Given the description of an element on the screen output the (x, y) to click on. 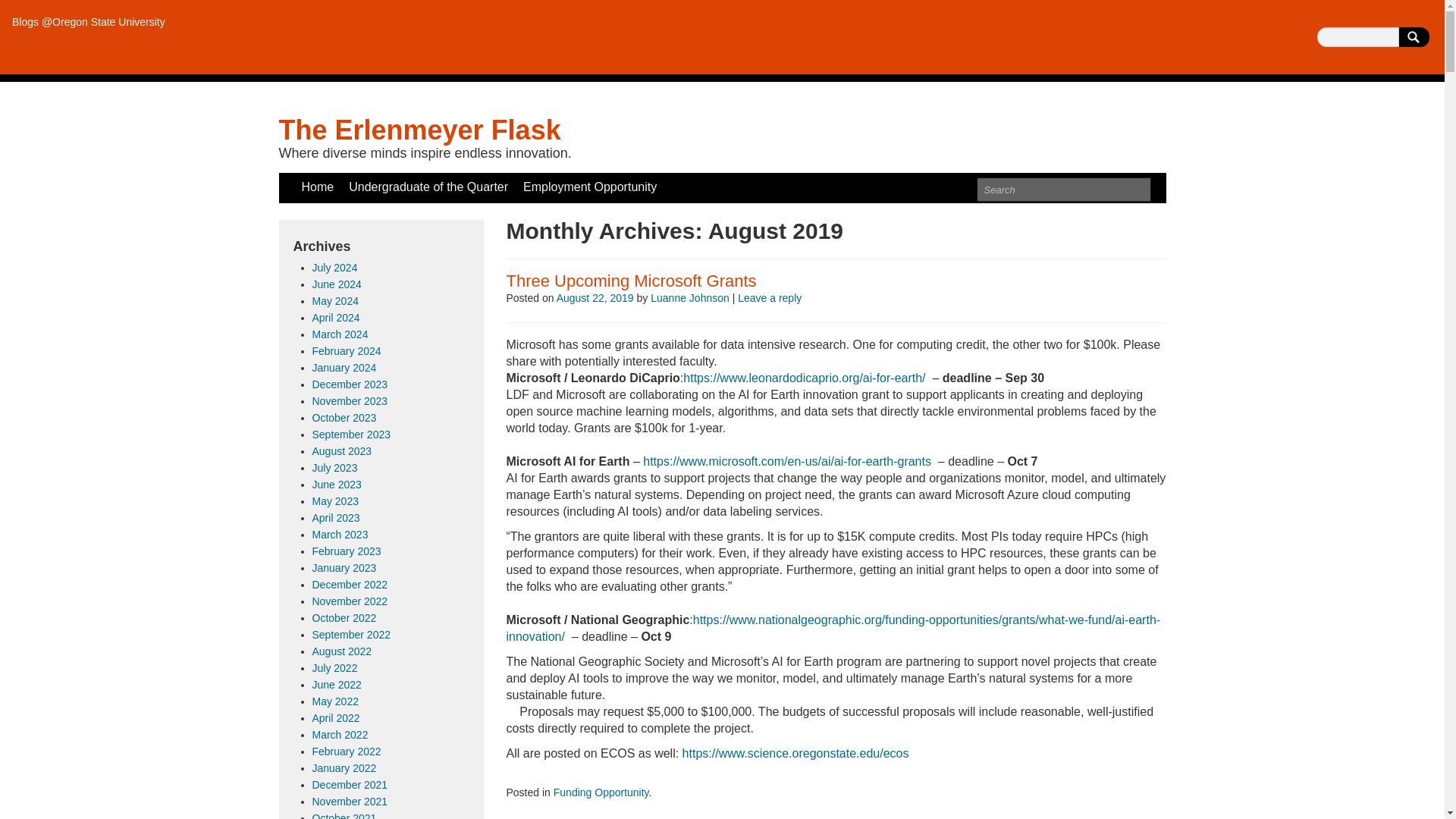
Leave a reply (770, 297)
Skip to secondary content (349, 180)
Luanne Johnson (689, 297)
Employment Opportunity (589, 187)
Funding Opportunity (601, 792)
The Erlenmeyer Flask (419, 129)
August 22, 2019 (594, 297)
The Erlenmeyer Flask (419, 129)
Three Upcoming Microsoft Grants (631, 280)
Skip to primary content (341, 180)
3:15 pm (594, 297)
Skip to secondary content (349, 180)
Home (318, 187)
Skip to primary content (341, 180)
Undergraduate of the Quarter (427, 187)
